Given the description of an element on the screen output the (x, y) to click on. 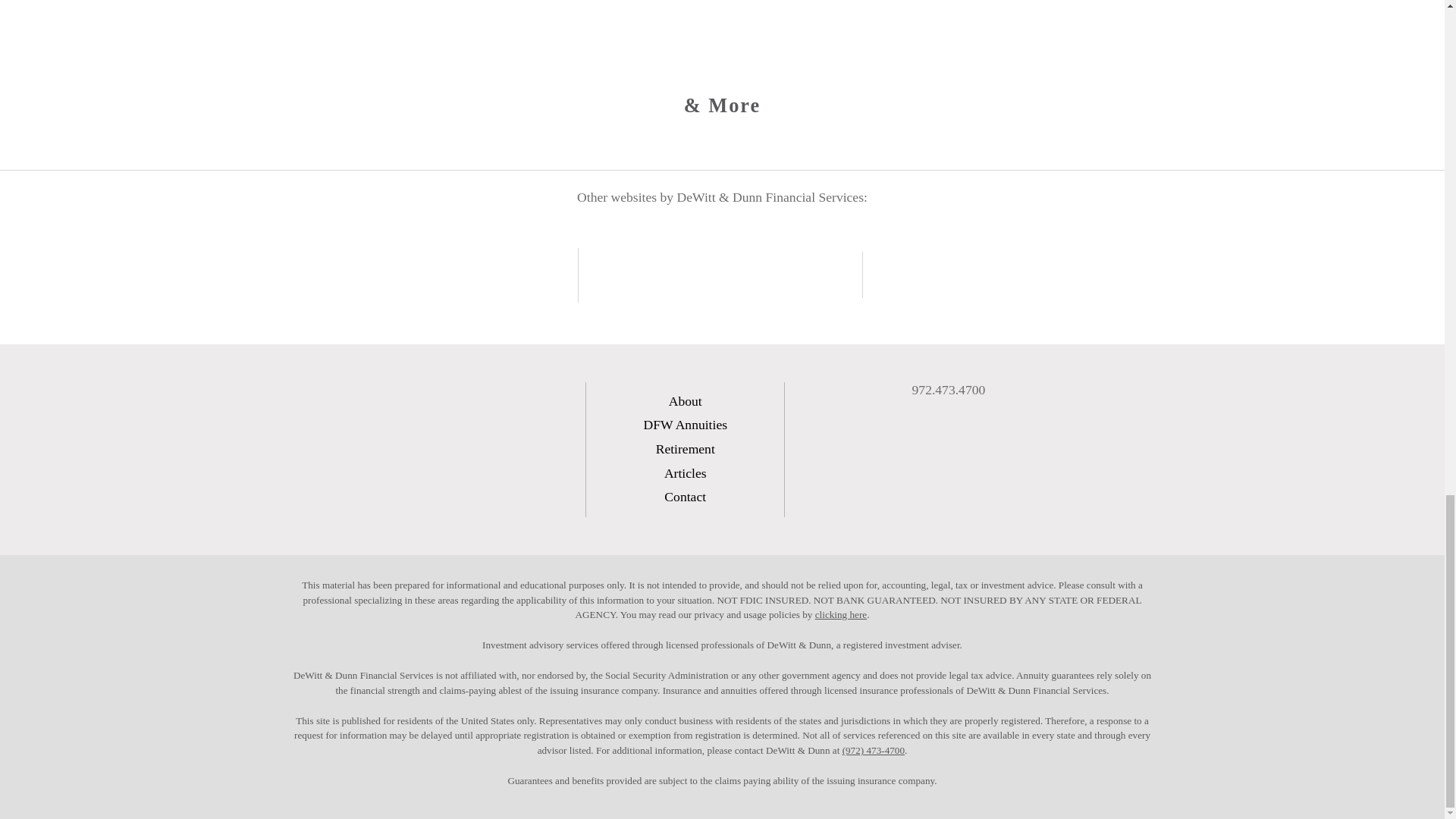
Call us (941, 390)
Articles (684, 473)
About (684, 400)
Retirement (685, 448)
972.473.4700 (941, 390)
DFW Annuities (684, 424)
Contact (684, 496)
